Given the description of an element on the screen output the (x, y) to click on. 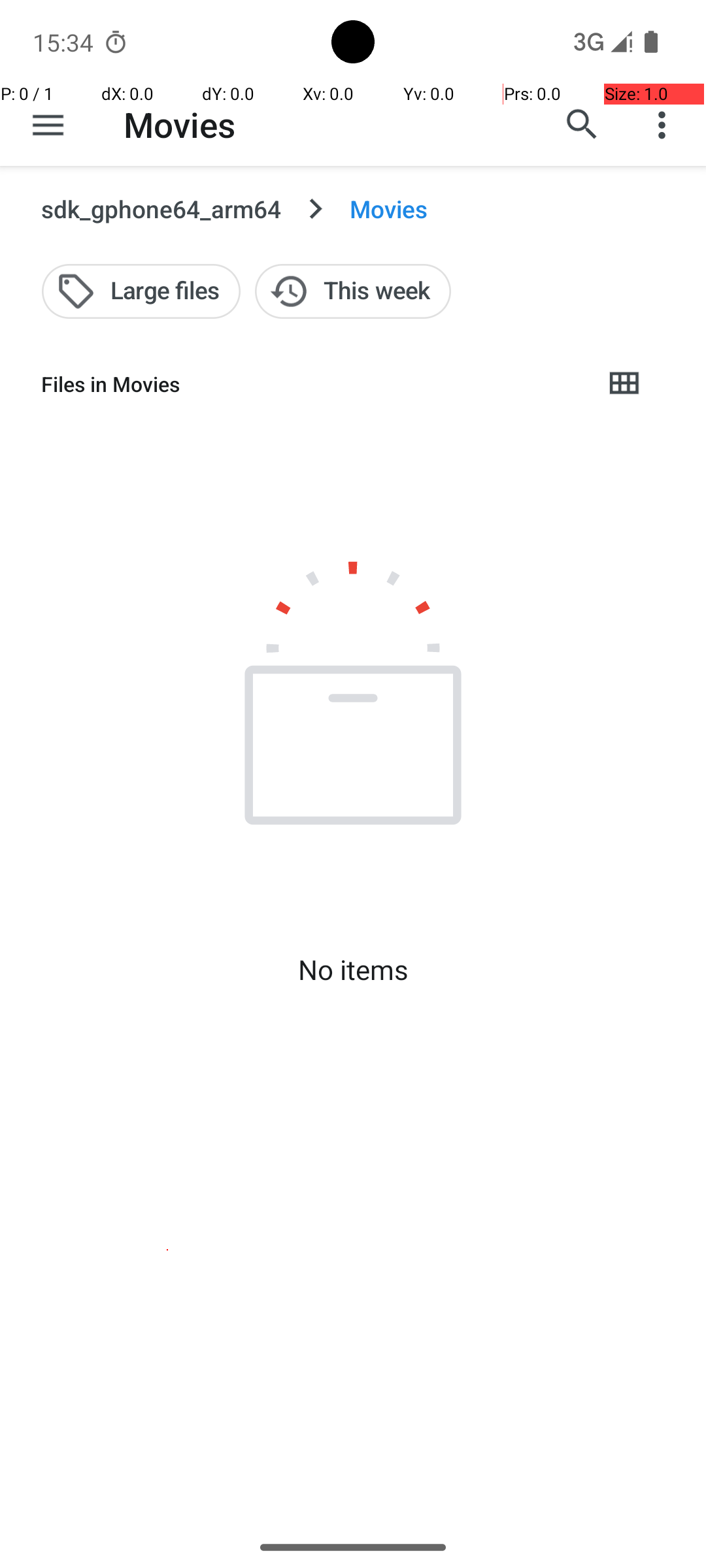
Files in Movies Element type: android.widget.TextView (311, 383)
